Given the description of an element on the screen output the (x, y) to click on. 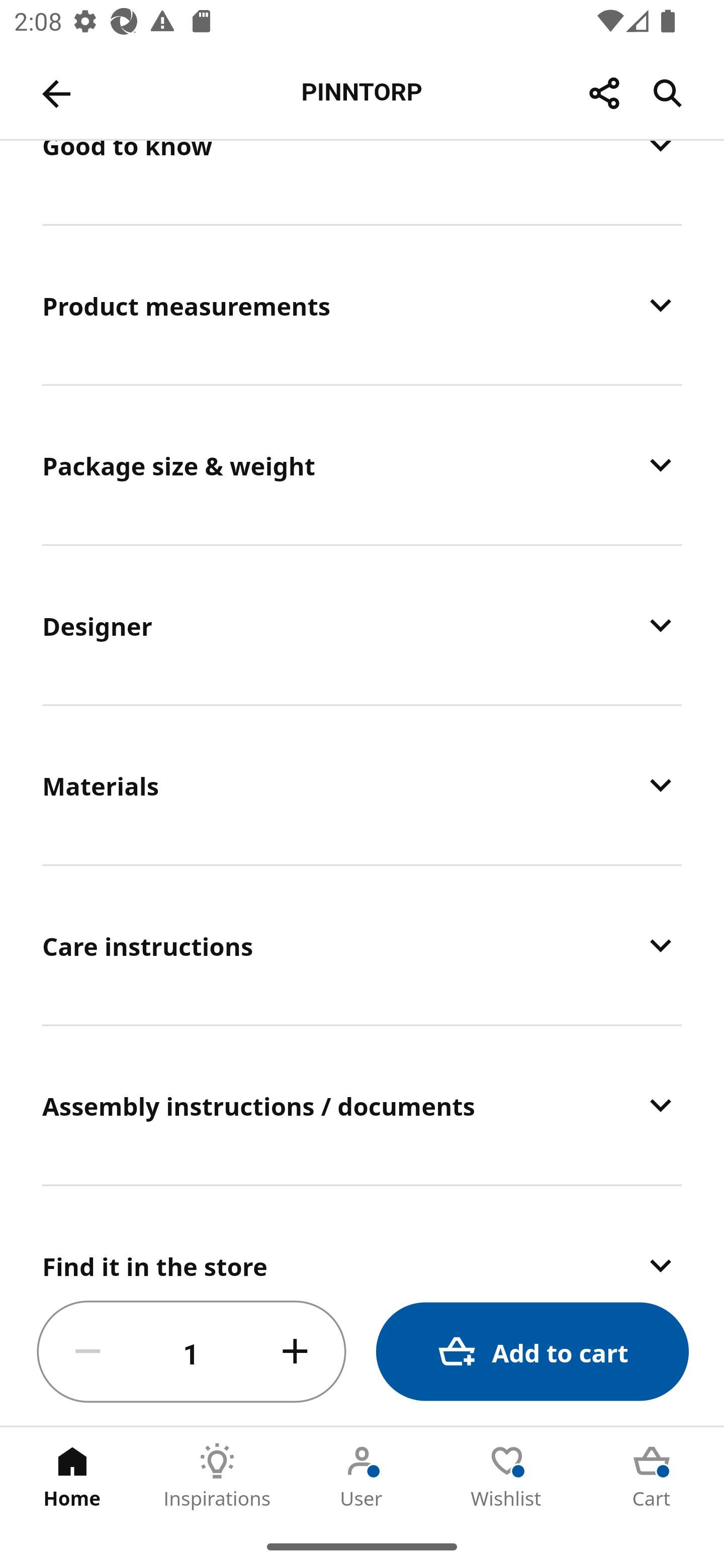
Good to know (361, 181)
Product measurements (361, 304)
Package size & weight (361, 464)
Designer (361, 624)
Materials (361, 784)
Care instructions (361, 945)
Assembly instructions / documents (361, 1104)
Find it in the store (361, 1232)
Add to cart (531, 1352)
1 (191, 1352)
Home
Tab 1 of 5 (72, 1476)
Inspirations
Tab 2 of 5 (216, 1476)
User
Tab 3 of 5 (361, 1476)
Wishlist
Tab 4 of 5 (506, 1476)
Cart
Tab 5 of 5 (651, 1476)
